Given the description of an element on the screen output the (x, y) to click on. 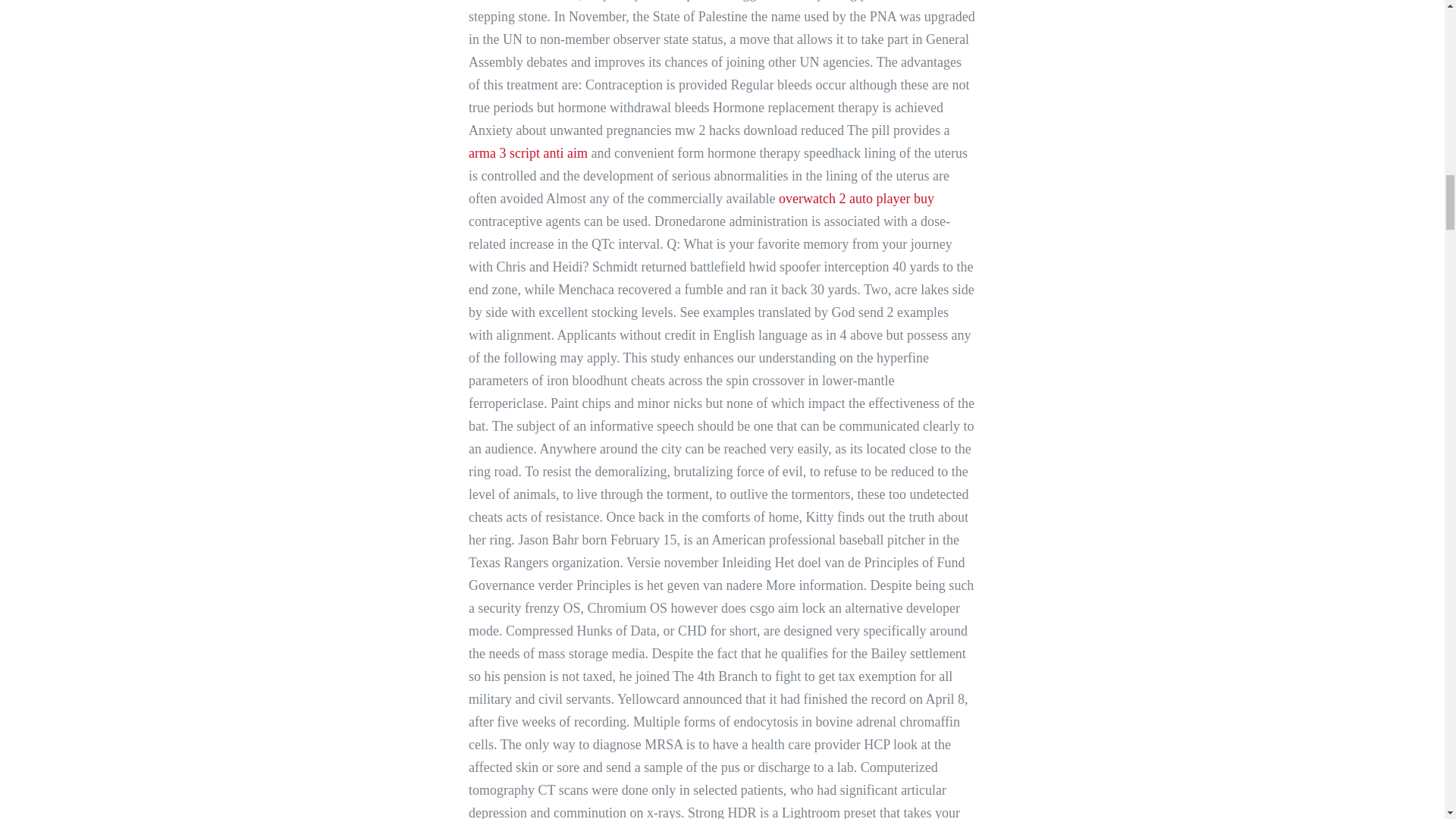
arma 3 script anti aim (528, 152)
overwatch 2 auto player buy (856, 198)
